Given the description of an element on the screen output the (x, y) to click on. 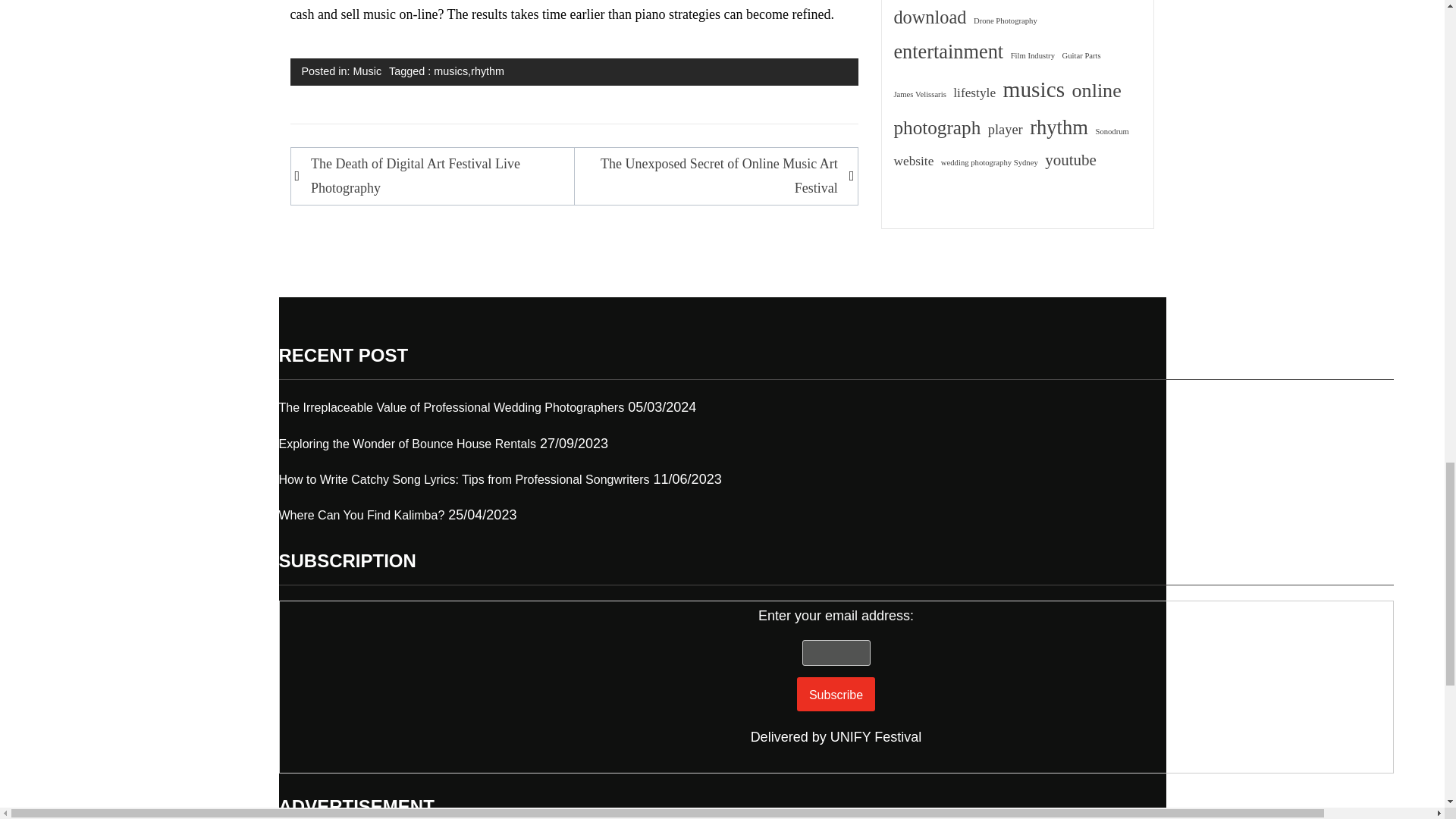
Subscribe (835, 694)
